Given the description of an element on the screen output the (x, y) to click on. 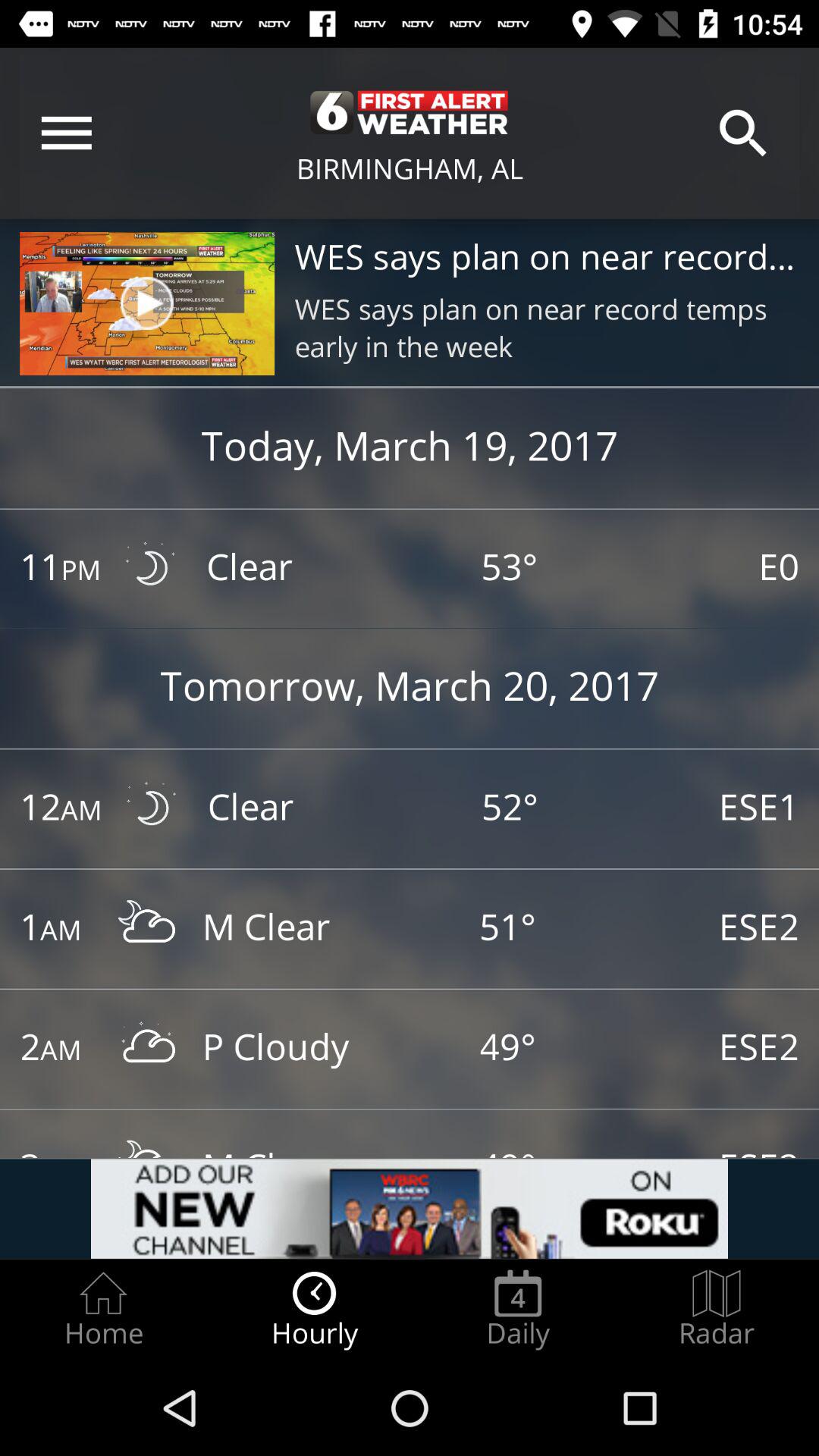
launch radar item (716, 1309)
